Given the description of an element on the screen output the (x, y) to click on. 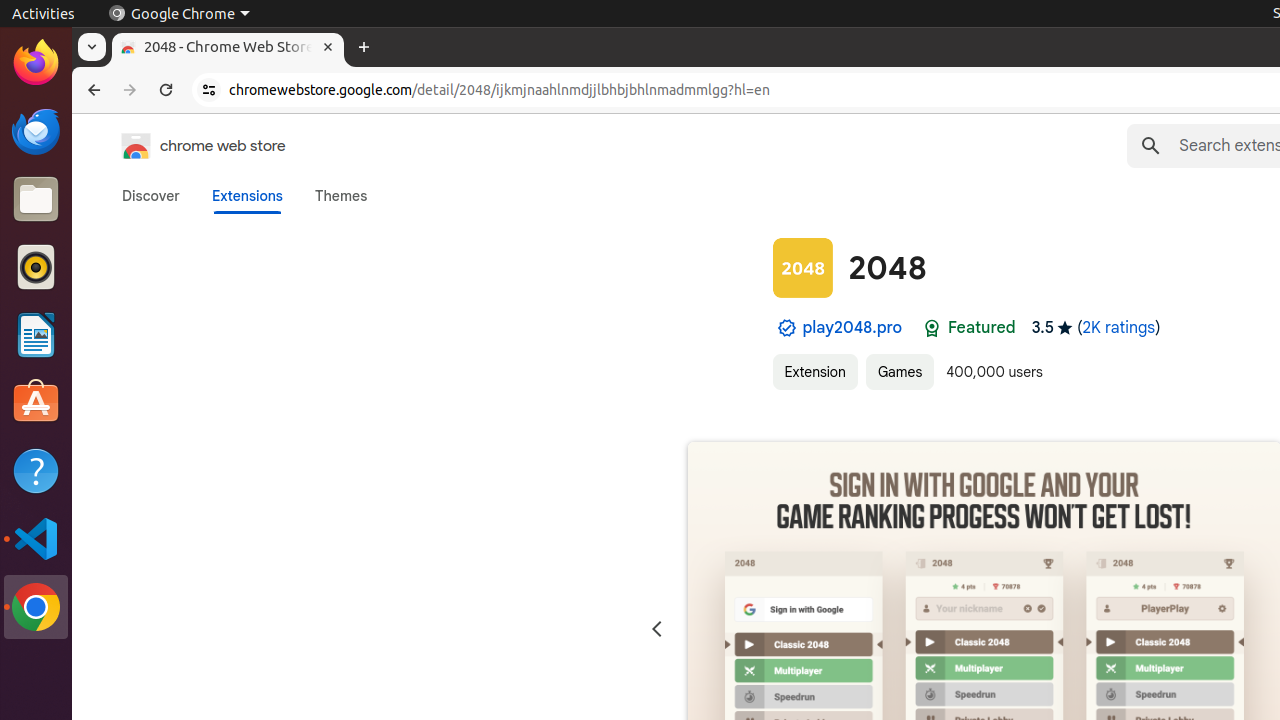
Themes Element type: page-tab (341, 196)
Games Element type: link (900, 372)
Google Chrome Element type: menu (179, 13)
Forward Element type: push-button (130, 90)
View site information Element type: push-button (209, 90)
